Given the description of an element on the screen output the (x, y) to click on. 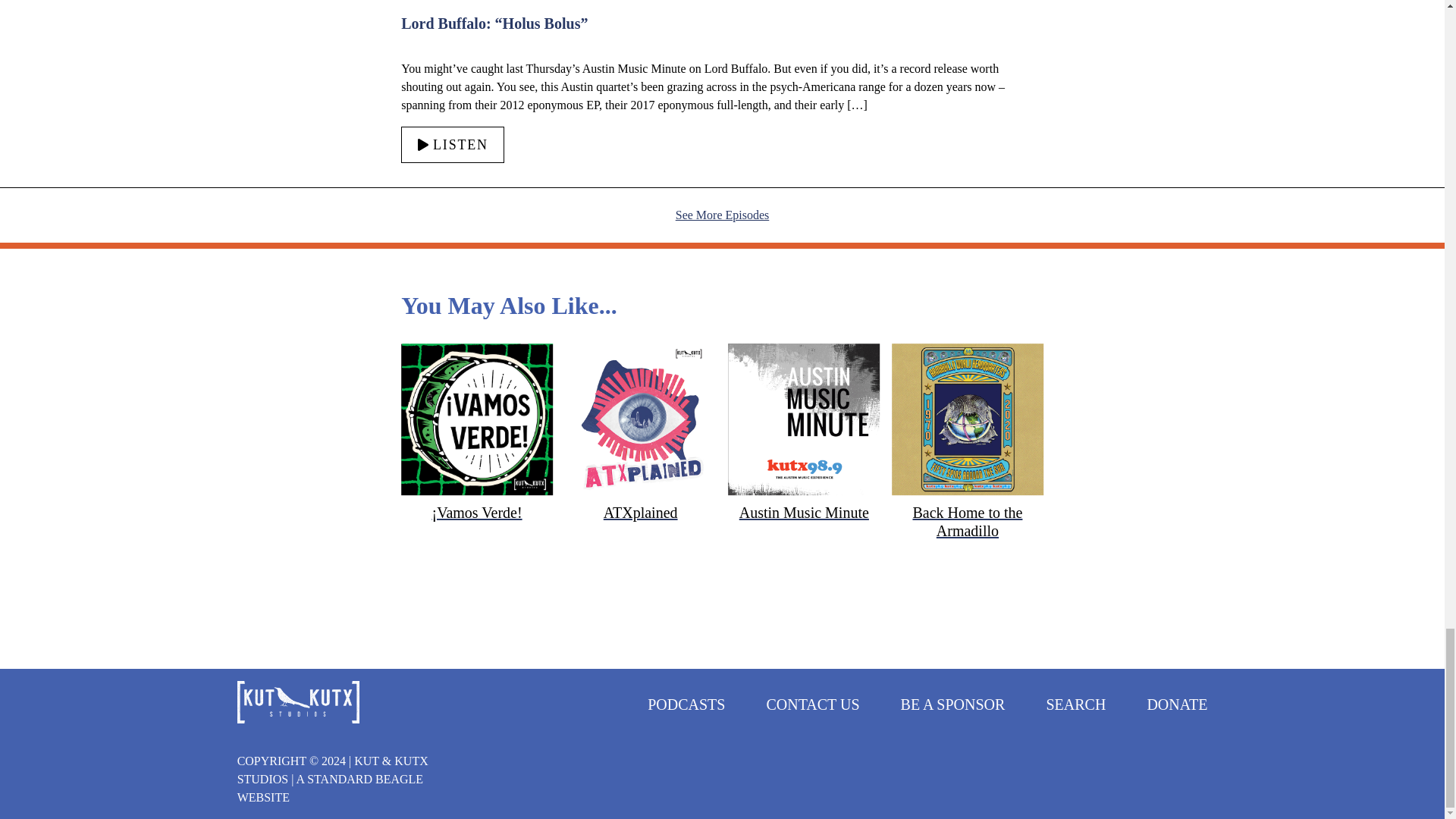
3rd party ad content (721, 622)
